Given the description of an element on the screen output the (x, y) to click on. 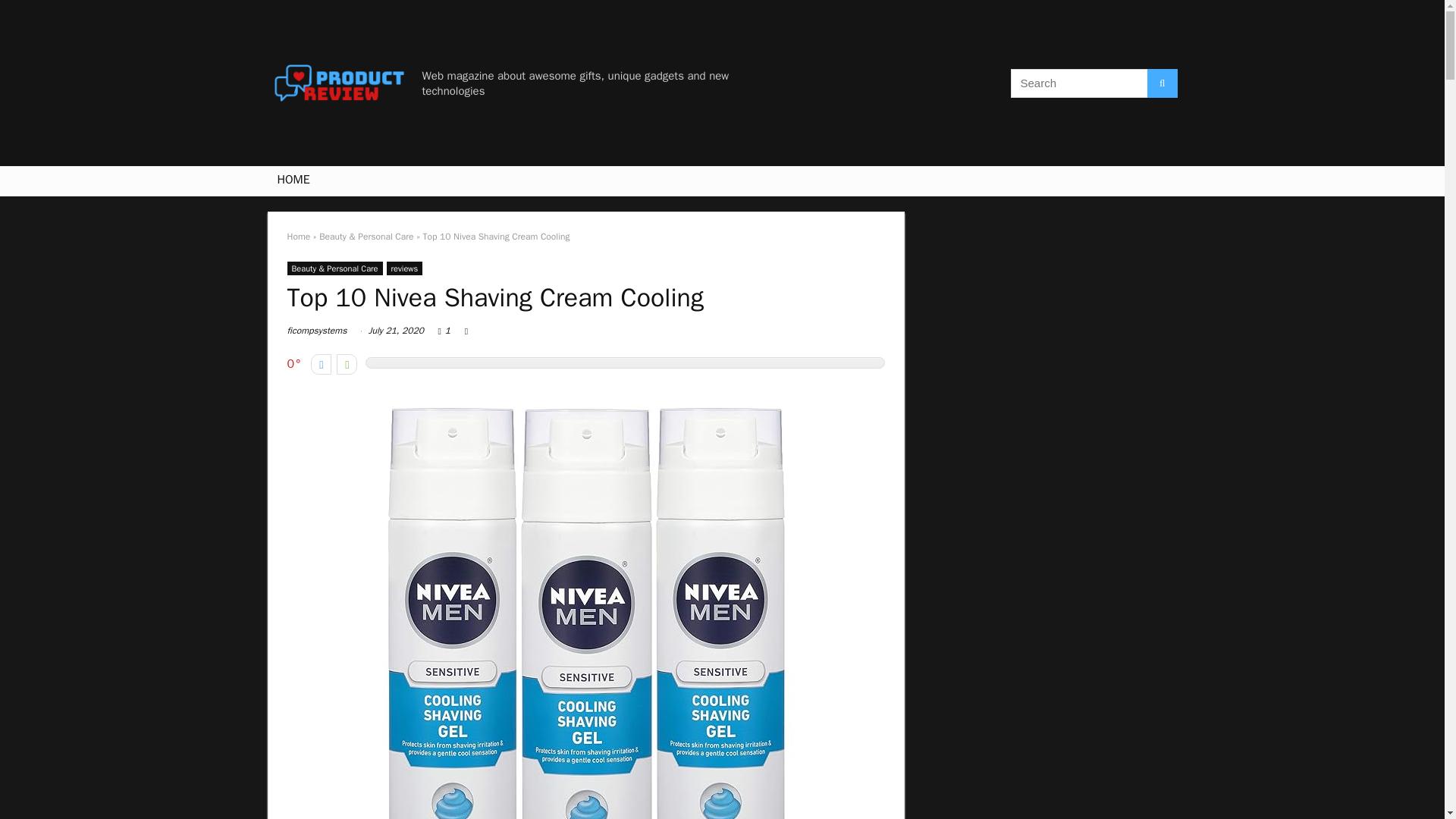
HOME (292, 181)
Vote up (346, 363)
ficompsystems (316, 330)
reviews (405, 268)
Vote down (321, 363)
Home (298, 236)
View all posts in reviews (405, 268)
